Given the description of an element on the screen output the (x, y) to click on. 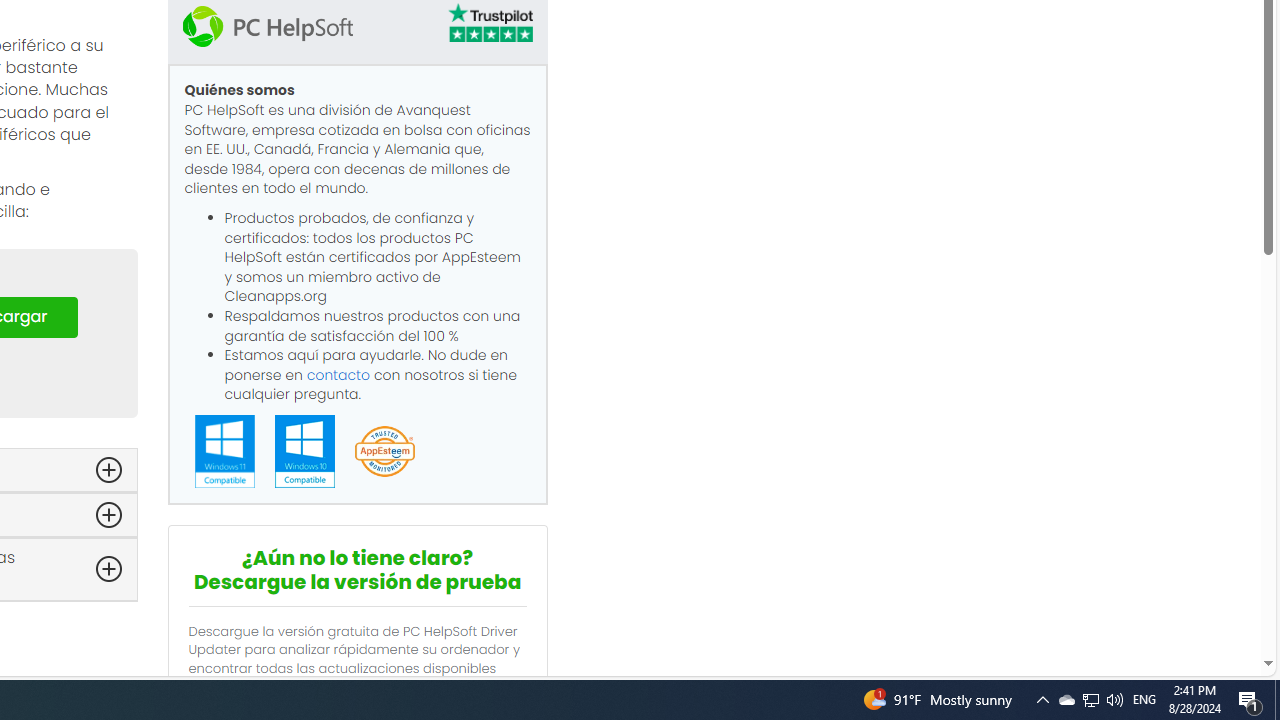
PCHelpsoft (267, 25)
Windows 11 Compatible (224, 450)
App Esteem (384, 452)
TrustPilot (489, 22)
Windows 10 Compatible (304, 451)
TrustPilot (489, 25)
App Esteem (384, 452)
contacto (338, 374)
